Given the description of an element on the screen output the (x, y) to click on. 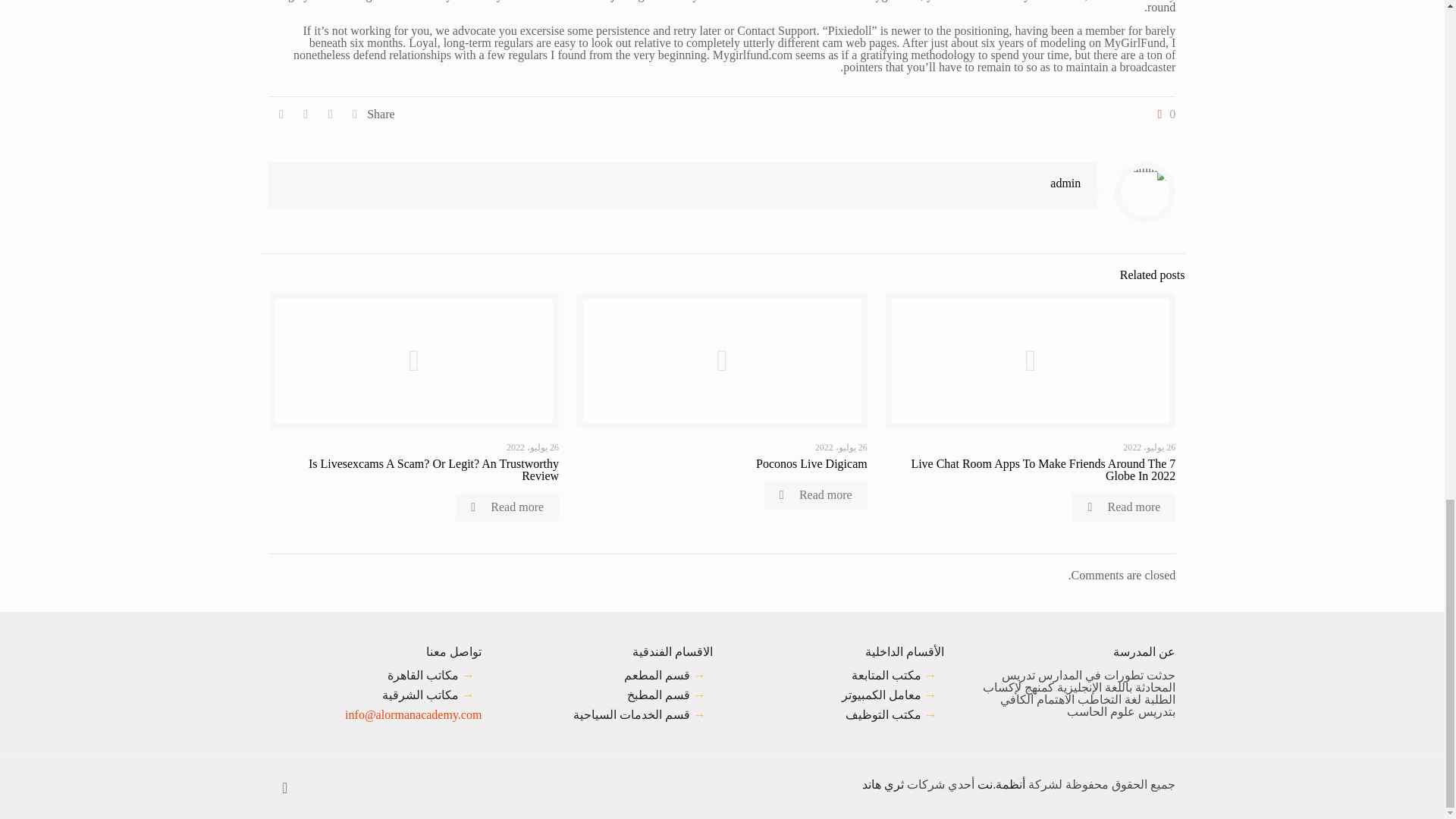
Is Livesexcams A Scam? Or Legit? An Trustworthy Review (433, 469)
Read more (507, 506)
Read more (815, 494)
Read more (1122, 506)
admin (1064, 182)
Poconos Live Digicam (811, 463)
0 (1162, 114)
